Given the description of an element on the screen output the (x, y) to click on. 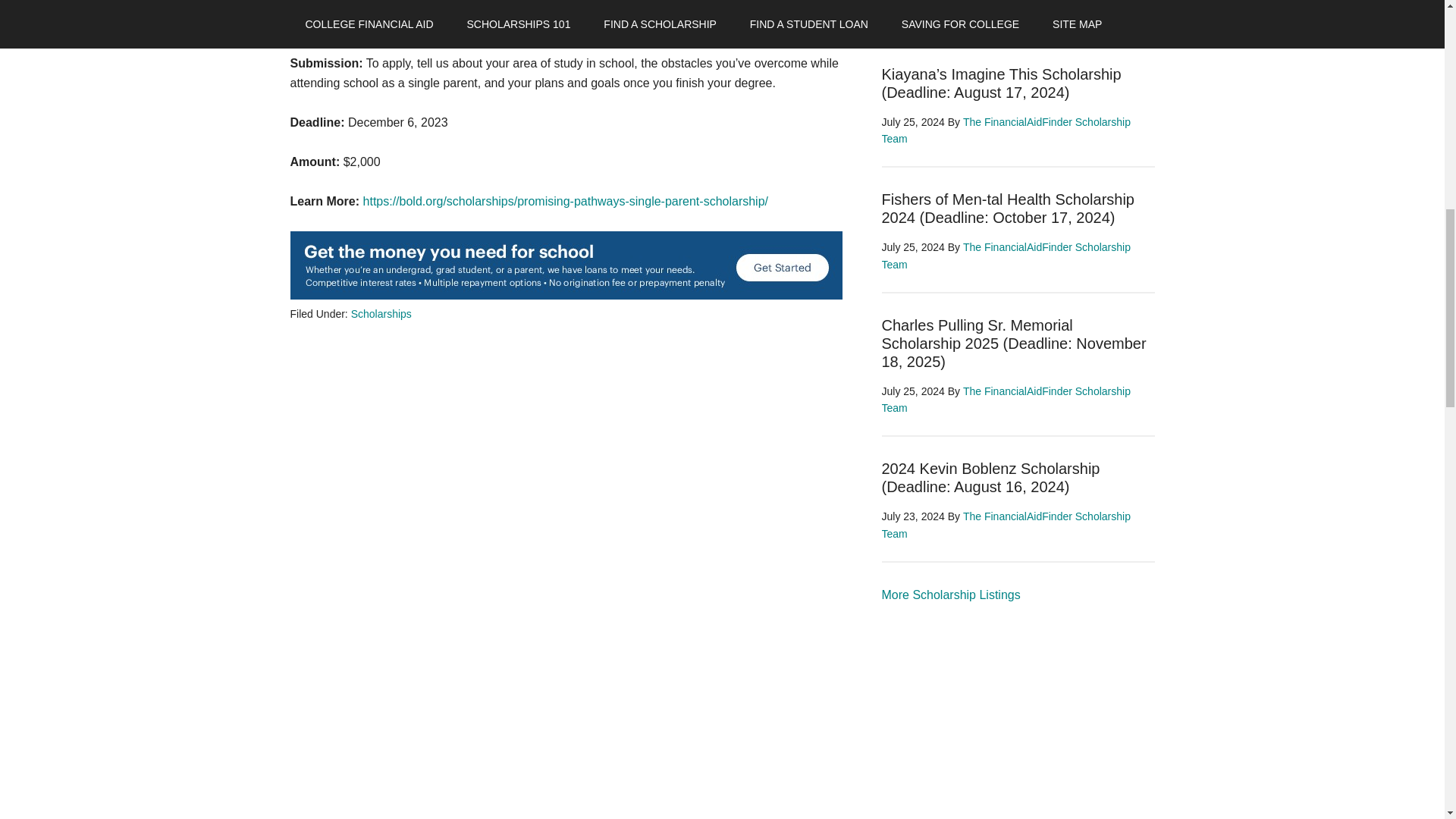
Scholarships (950, 594)
